Given the description of an element on the screen output the (x, y) to click on. 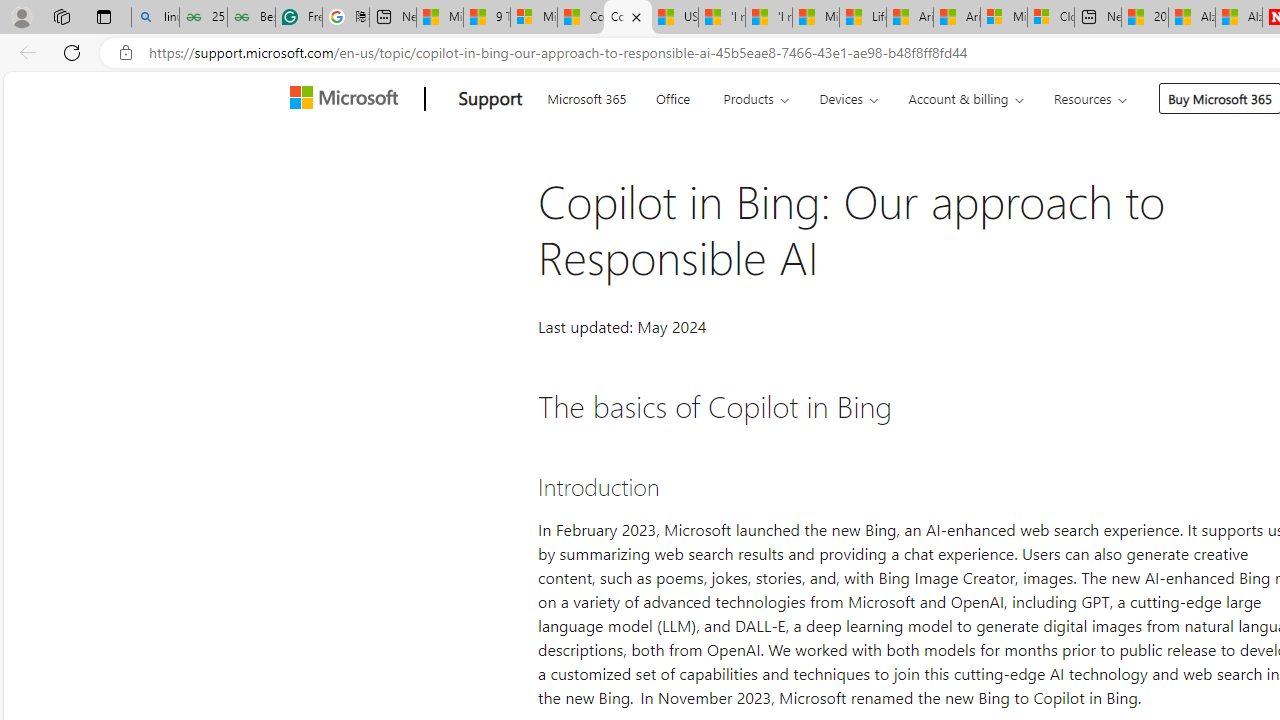
Office (672, 96)
Lifestyle - MSN (862, 17)
Support (490, 99)
